Given the description of an element on the screen output the (x, y) to click on. 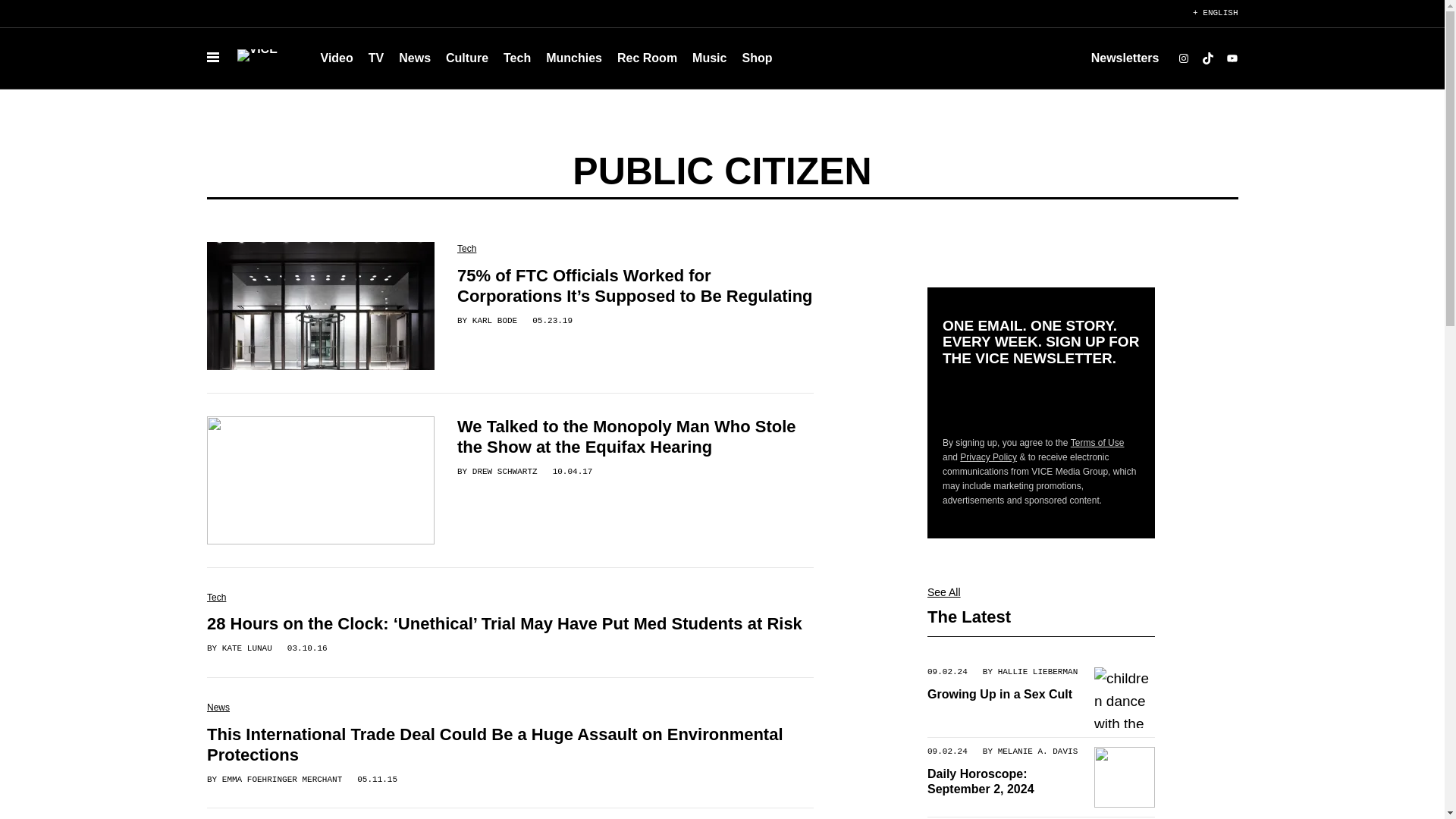
Posts by Karl Bode (493, 320)
Newsletters (1124, 57)
TV (376, 58)
Shop (755, 58)
Tech (517, 58)
News (414, 58)
Newsletter Signup Form (1040, 400)
Posts by Melanie A. Davis (1037, 750)
Rec Room (647, 58)
Open Menu (211, 58)
